Given the description of an element on the screen output the (x, y) to click on. 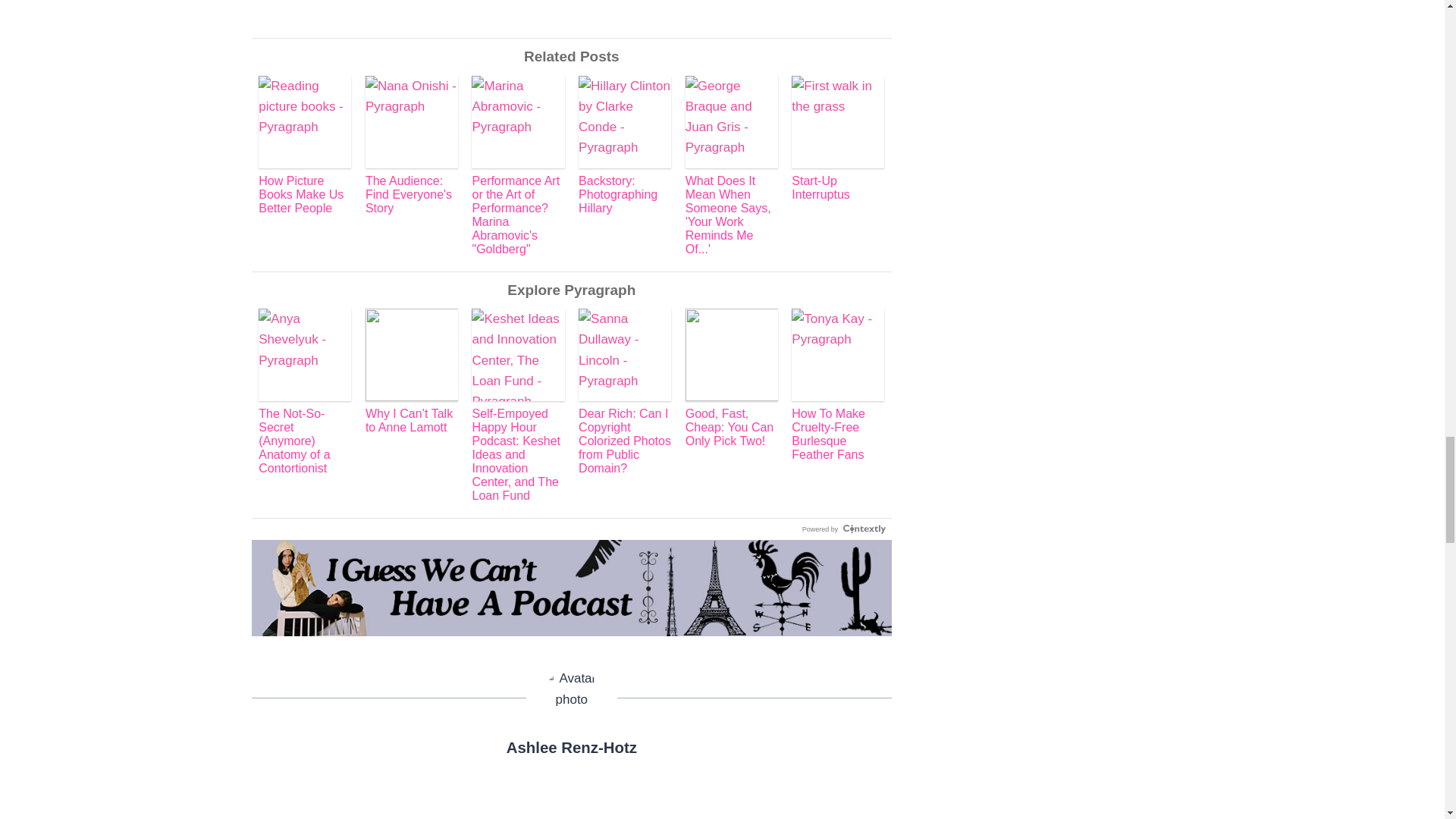
How Picture Books Make Us Better People (304, 145)
Backstory: Photographing Hillary (624, 145)
Start-Up Interruptus (837, 138)
The Audience: Find Everyone's Story (411, 145)
